Given the description of an element on the screen output the (x, y) to click on. 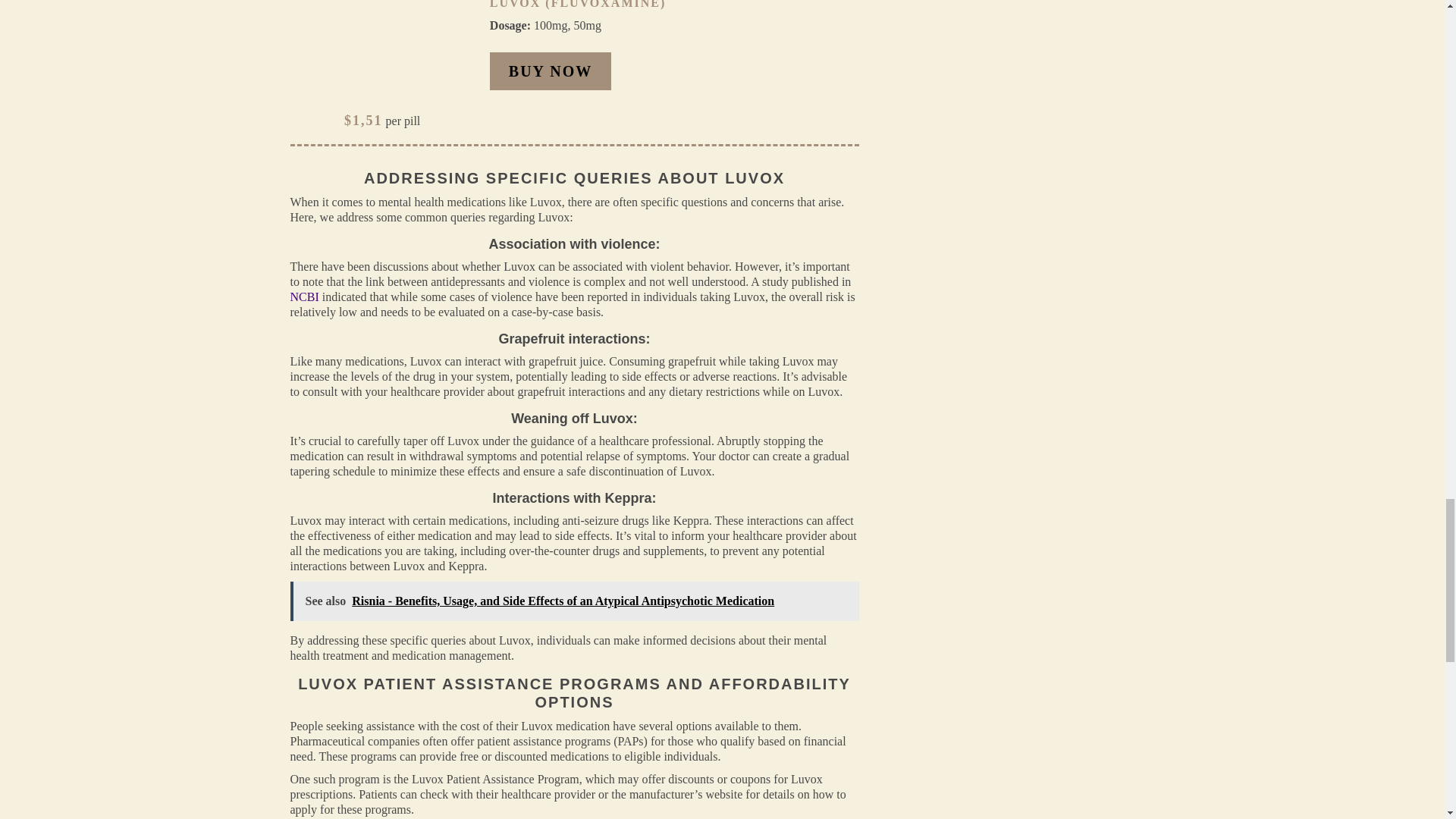
BUY NOW (550, 71)
NCBI (303, 296)
